Given the description of an element on the screen output the (x, y) to click on. 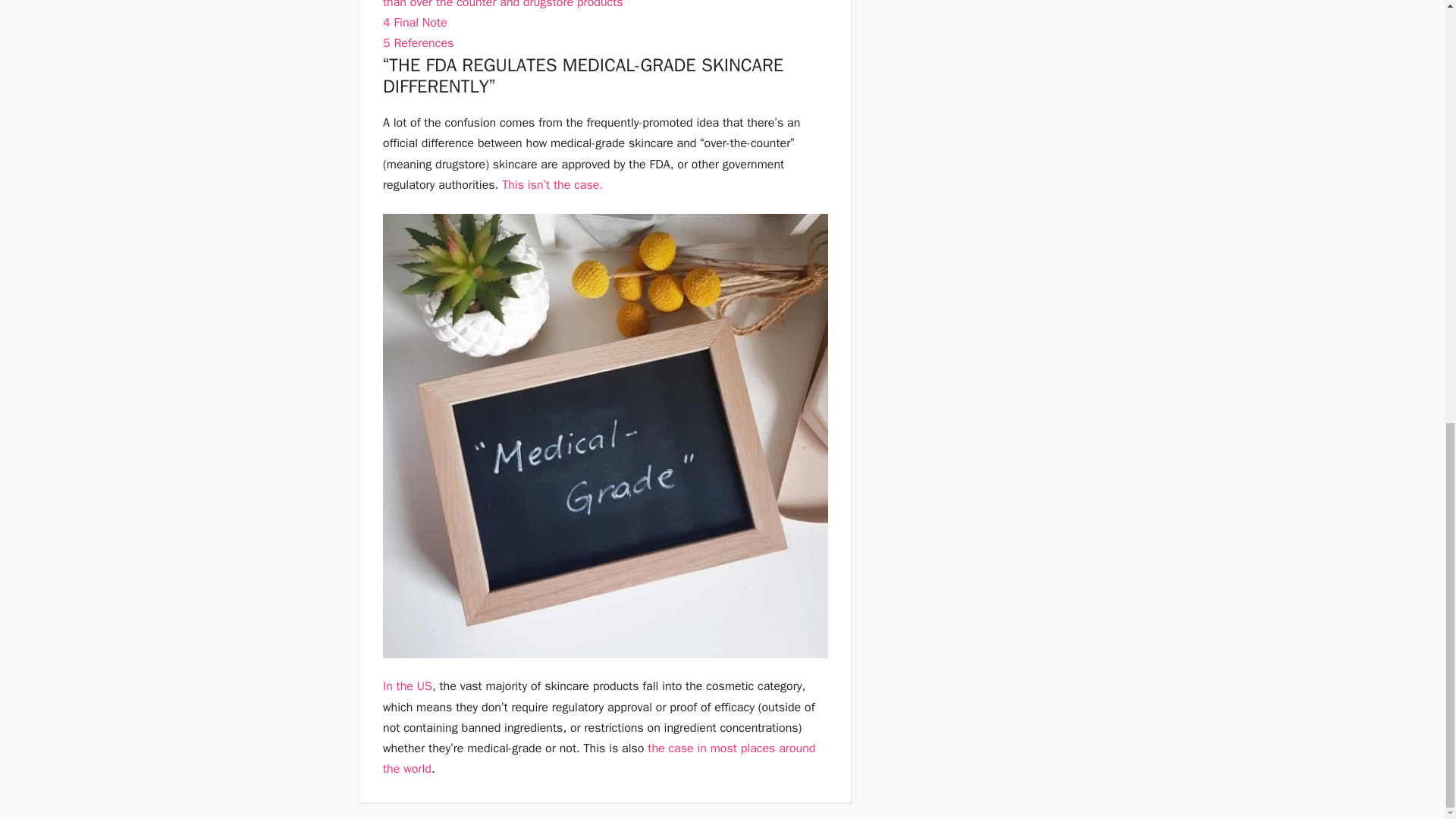
the case in (676, 748)
In the US (407, 685)
4 Final Note (414, 22)
most places (743, 748)
around (796, 748)
the world (406, 768)
5 References (417, 43)
